Given the description of an element on the screen output the (x, y) to click on. 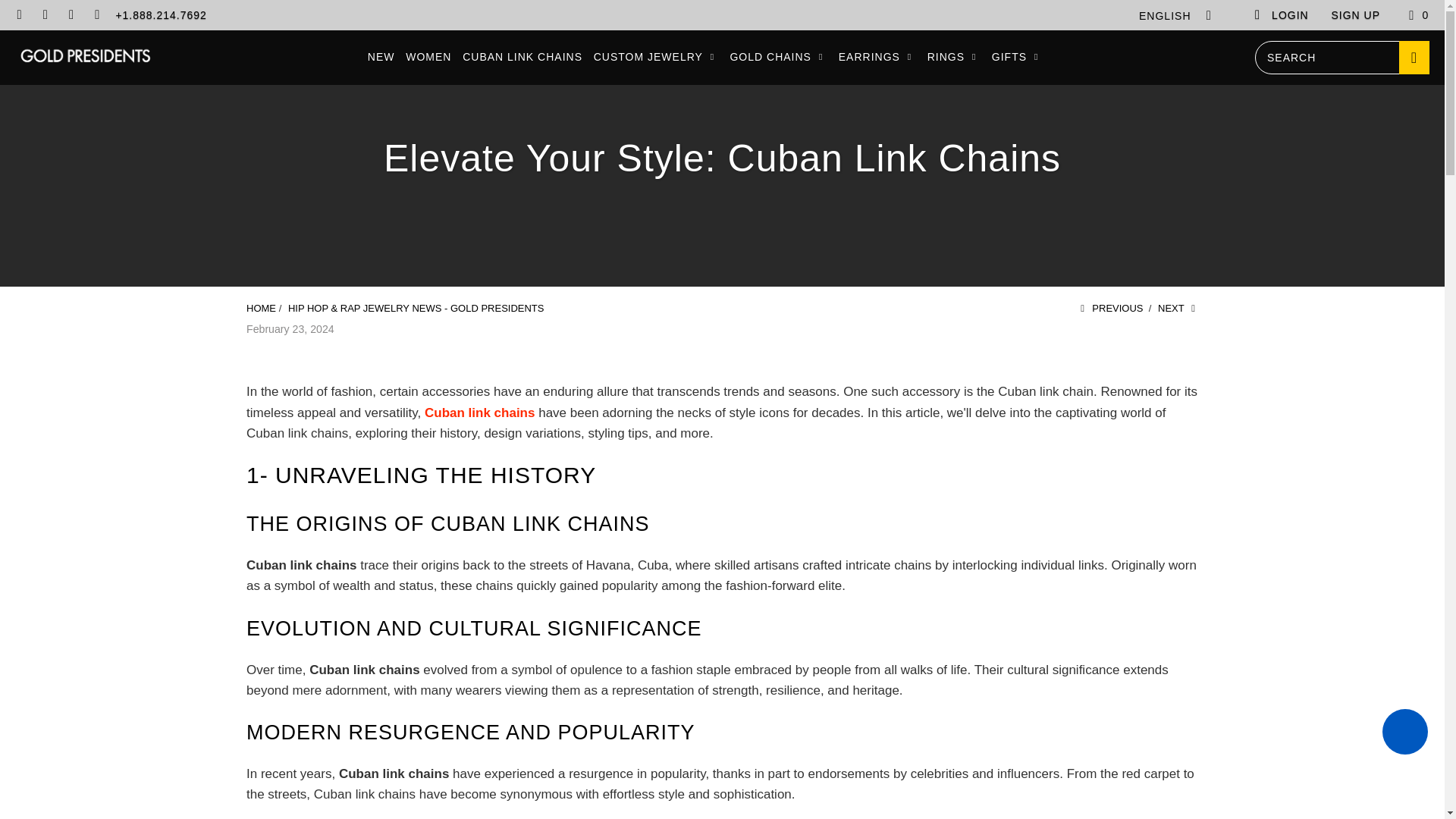
Pres (261, 307)
Pres on YouTube (18, 15)
Email Pres (96, 15)
My Account  (1281, 15)
Pres on Instagram (71, 15)
Pres (84, 57)
Pres on Pinterest (44, 15)
